Given the description of an element on the screen output the (x, y) to click on. 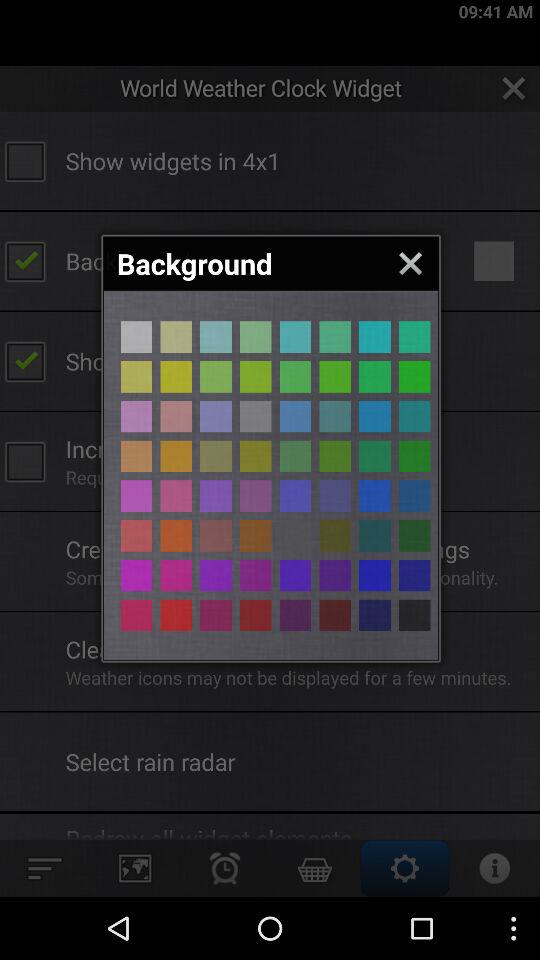
select background color (136, 416)
